Given the description of an element on the screen output the (x, y) to click on. 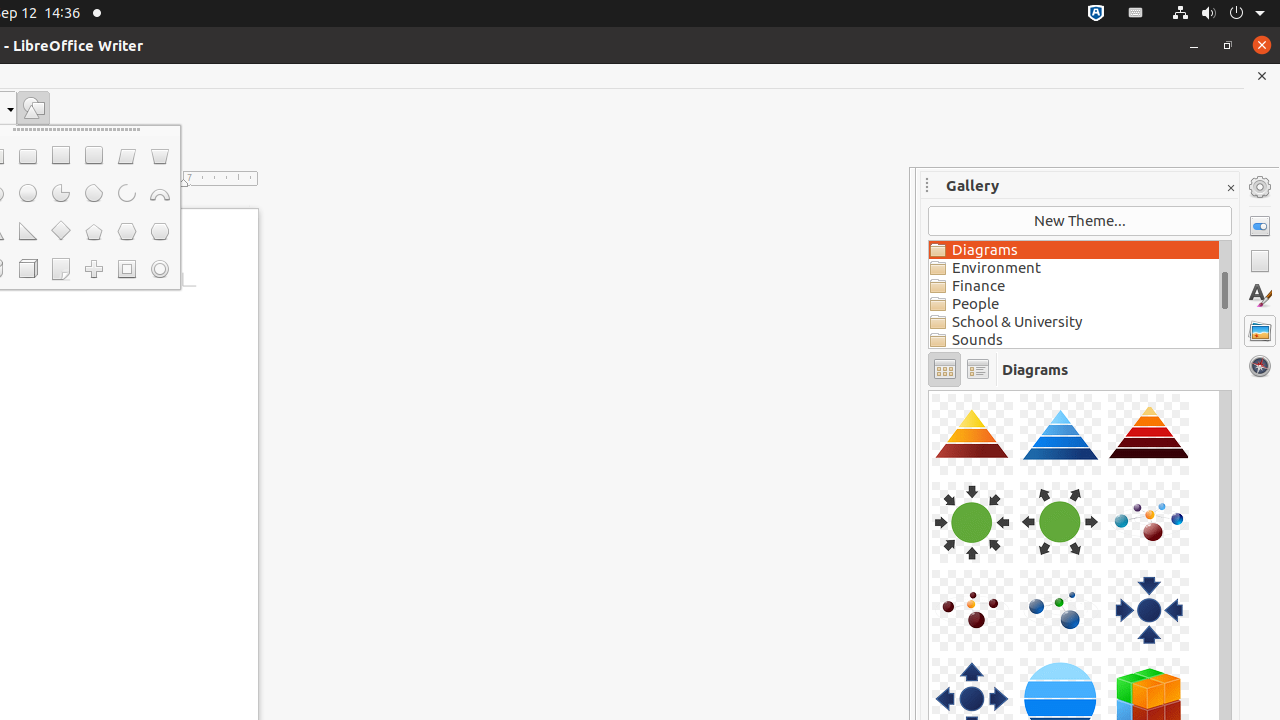
Component-Gear02-LightBlue Element type: list-item (929, 390)
Circle Pie Element type: toggle-button (60, 193)
Component-Circle01-Transparent-DarkBlue Element type: list-item (929, 390)
Icon View Element type: toggle-button (944, 369)
Component-Cuboid01-DarkBlue Element type: list-item (929, 390)
